Given the description of an element on the screen output the (x, y) to click on. 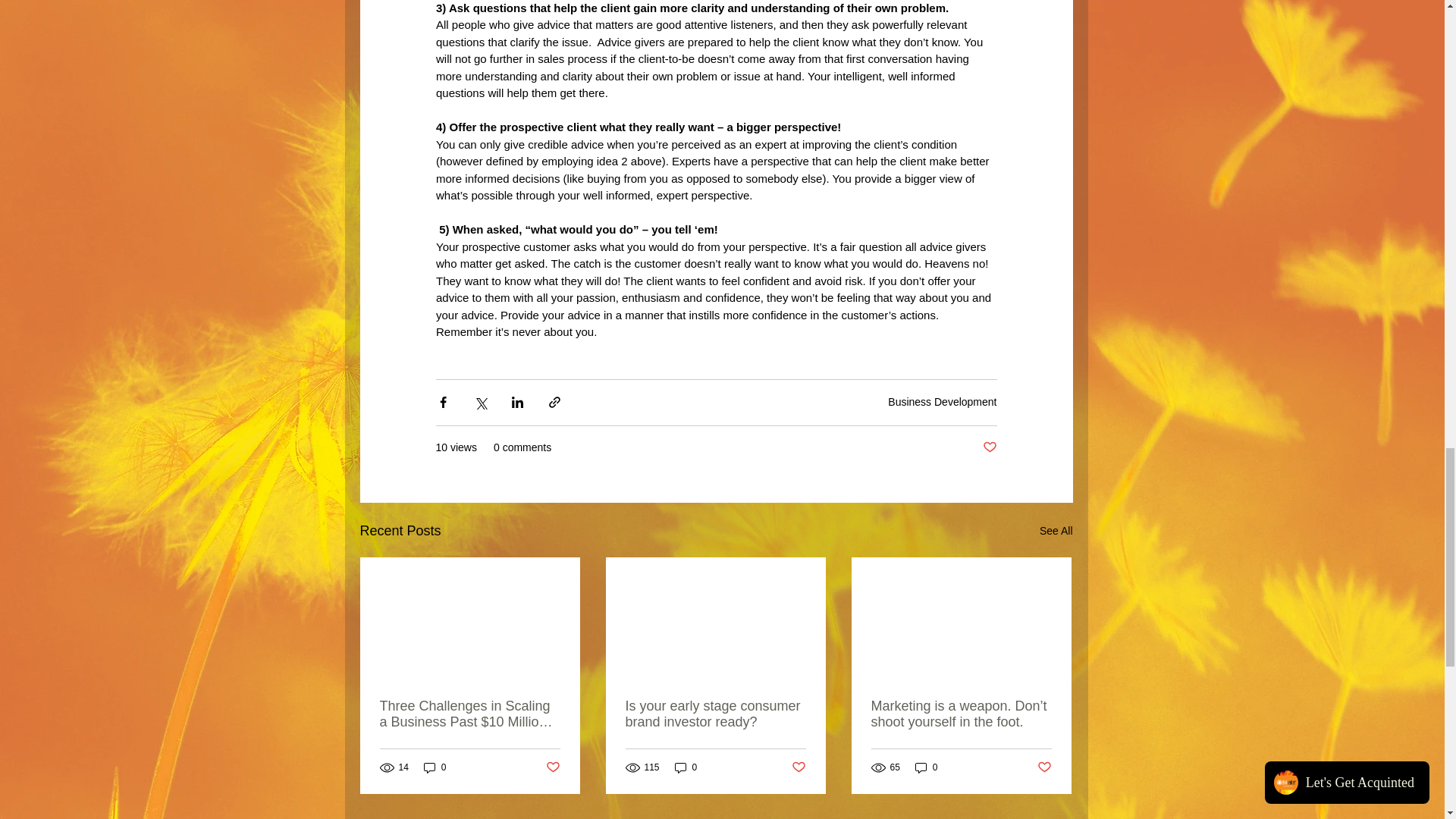
0 (685, 767)
Is your early stage consumer brand investor ready? (714, 714)
0 (926, 767)
Post not marked as liked (799, 767)
Post not marked as liked (989, 447)
Post not marked as liked (553, 767)
0 (435, 767)
Post not marked as liked (1043, 767)
See All (1056, 531)
Business Development (941, 401)
